Given the description of an element on the screen output the (x, y) to click on. 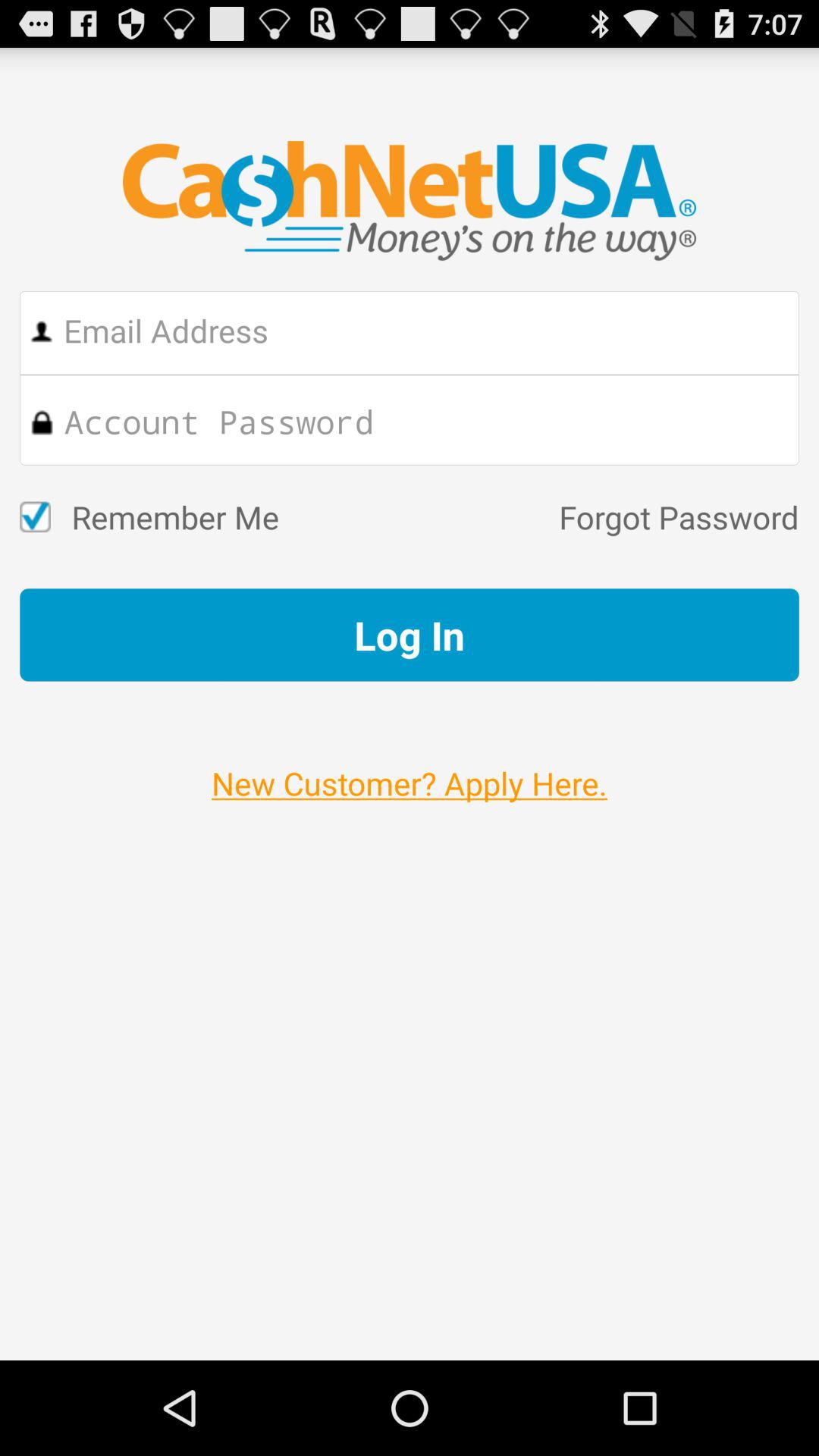
turn on app above remember me app (428, 419)
